Given the description of an element on the screen output the (x, y) to click on. 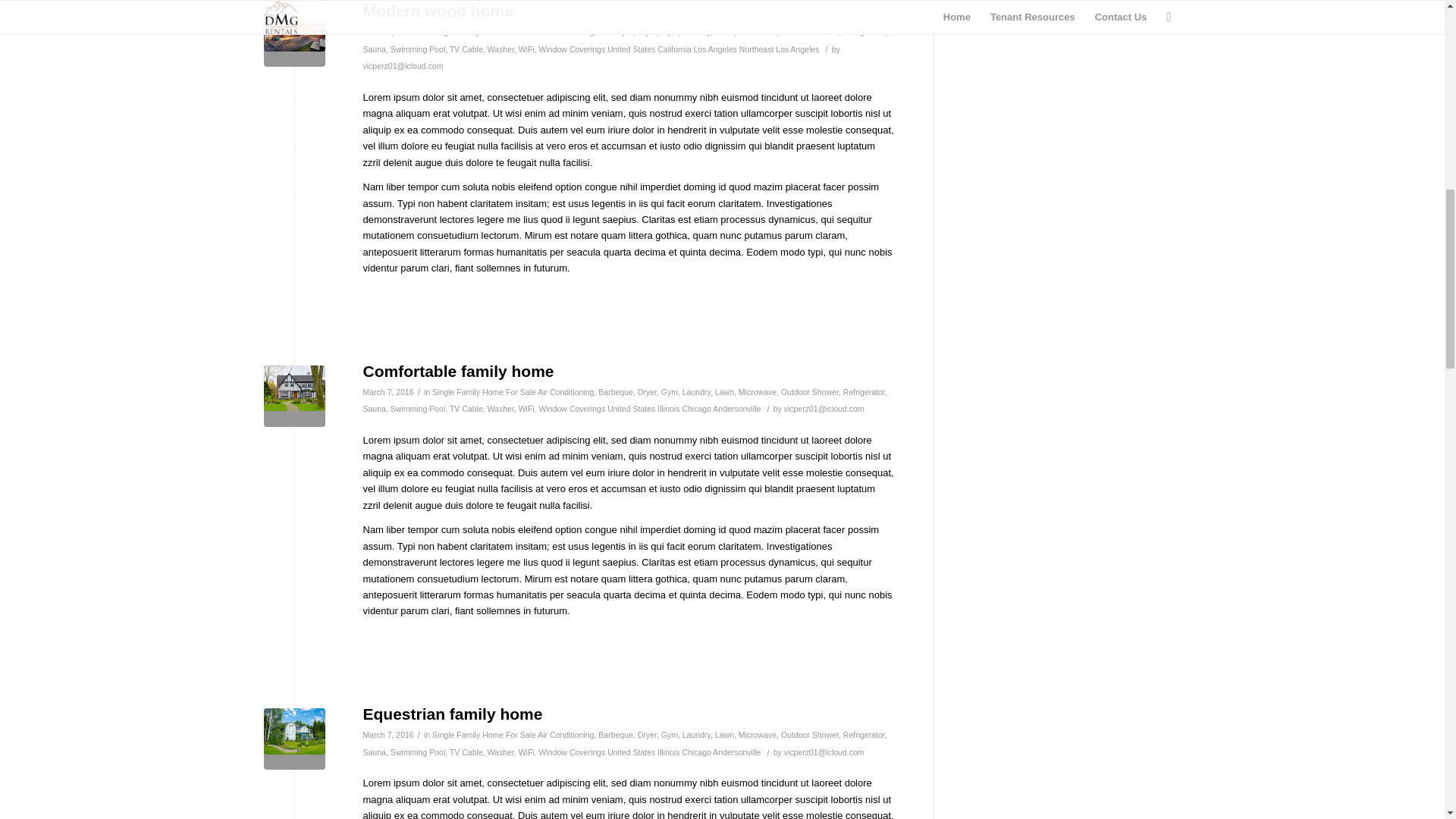
050 (293, 35)
Permanent Link: Comfortable family home (457, 371)
Permanent Link: Modern wood home (437, 10)
054 (293, 395)
